Given the description of an element on the screen output the (x, y) to click on. 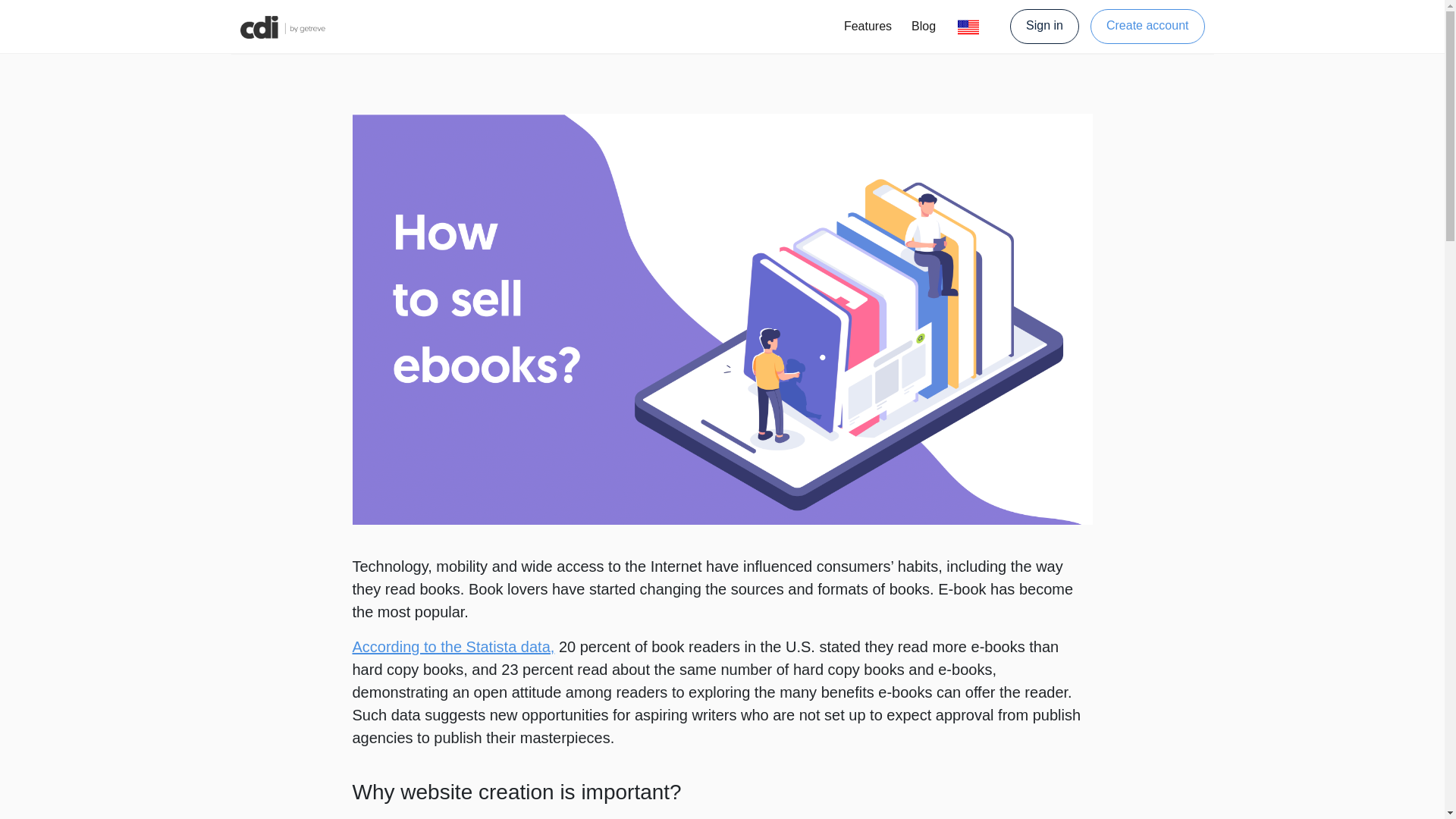
Sign in (1044, 26)
Blog (923, 26)
Features (868, 26)
According to the Statista data, (453, 646)
Create account (1147, 26)
Sign in (1050, 26)
